Given the description of an element on the screen output the (x, y) to click on. 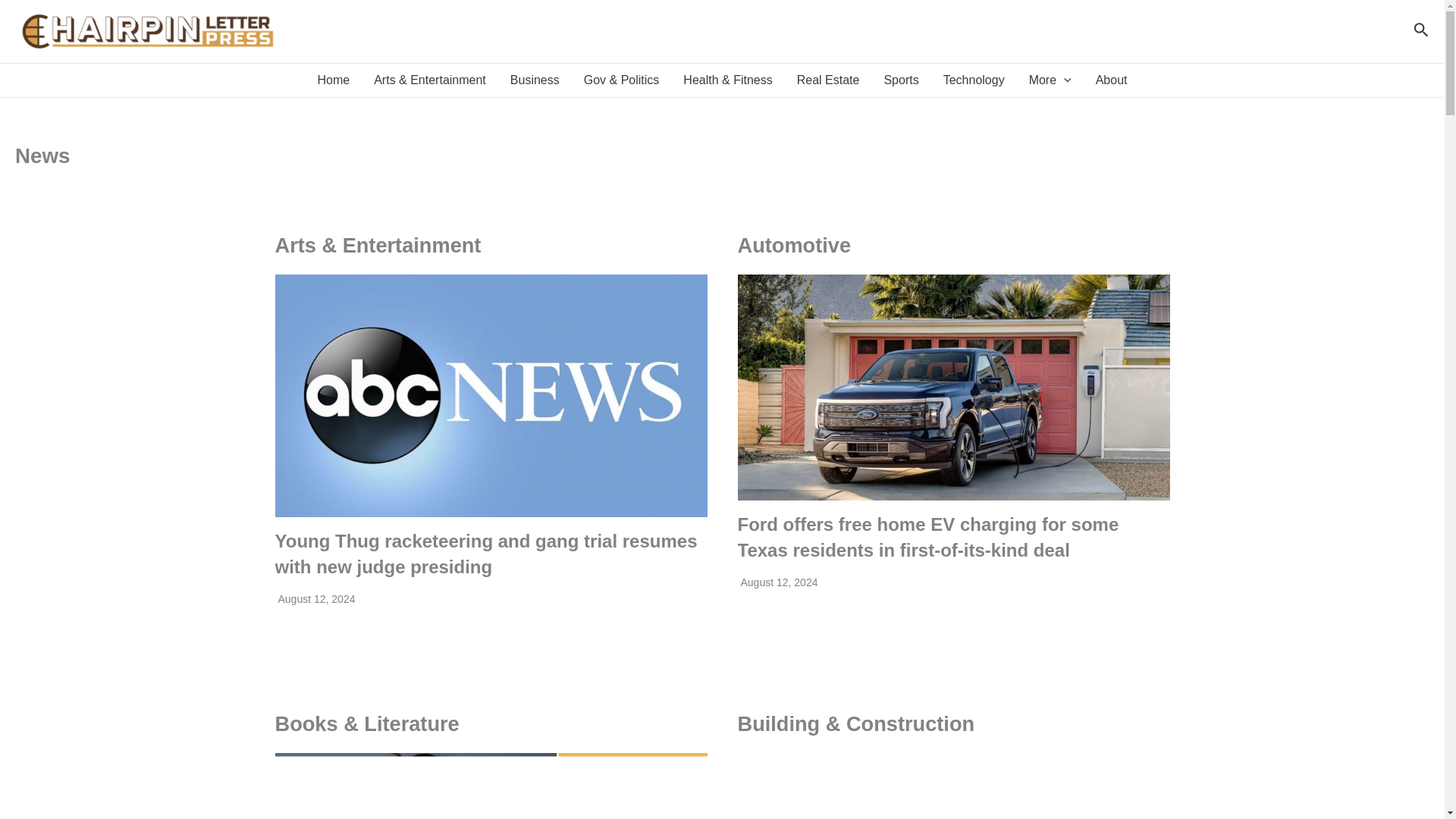
Technology (973, 80)
More (1049, 80)
Real Estate (828, 80)
Business (534, 80)
Home (332, 80)
Sports (900, 80)
About (1111, 80)
